Given the description of an element on the screen output the (x, y) to click on. 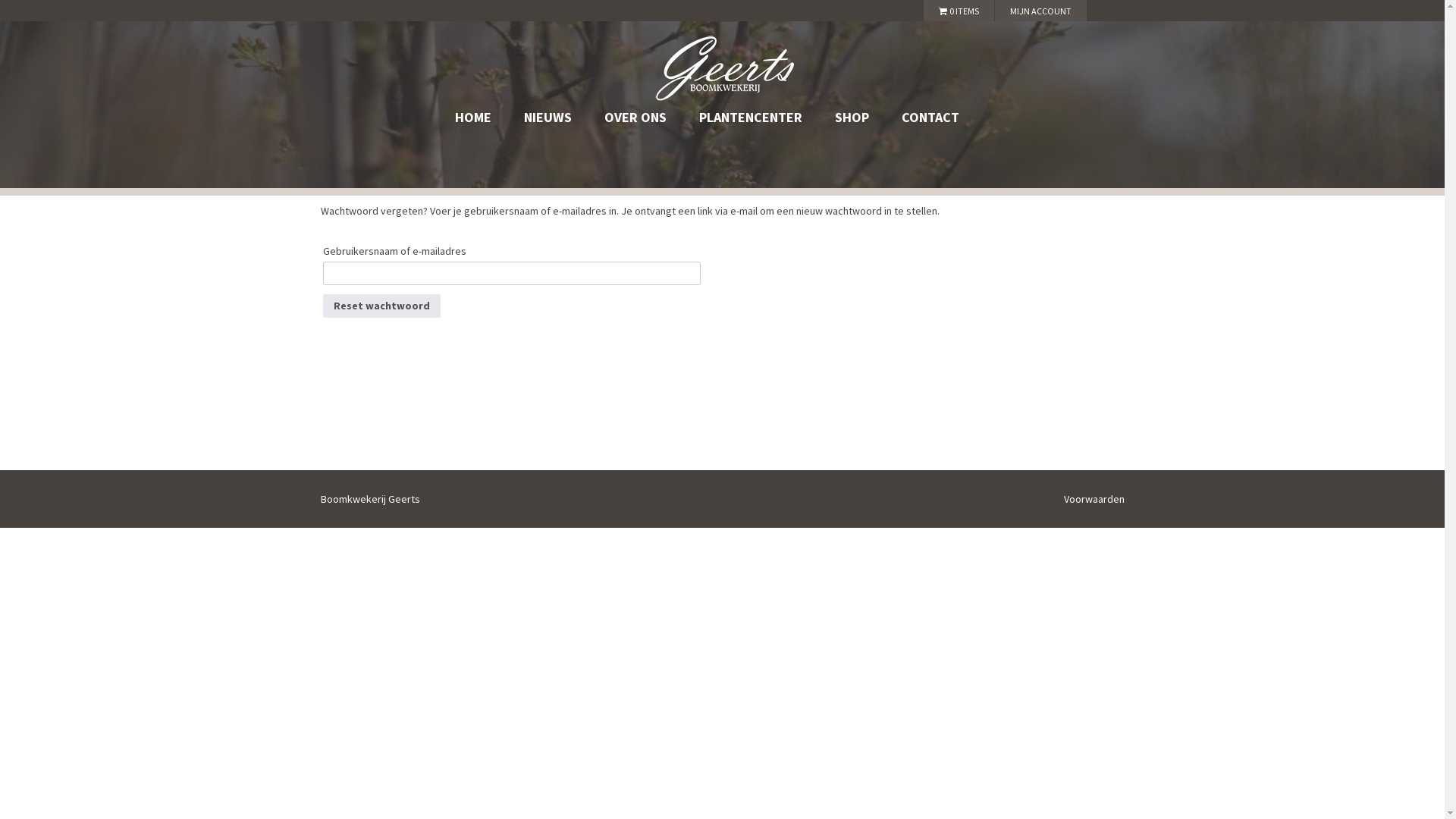
SHOP Element type: text (851, 117)
HOME Element type: text (473, 117)
PLANTENCENTER Element type: text (750, 117)
MIJN ACCOUNT Element type: text (1040, 10)
Voorwaarden Element type: text (1093, 498)
0 ITEMS Element type: text (958, 10)
Skip to content Element type: text (756, 112)
Reset wachtwoord Element type: text (381, 305)
NIEUWS Element type: text (547, 117)
OVER ONS Element type: text (635, 117)
CONTACT Element type: text (930, 117)
